Given the description of an element on the screen output the (x, y) to click on. 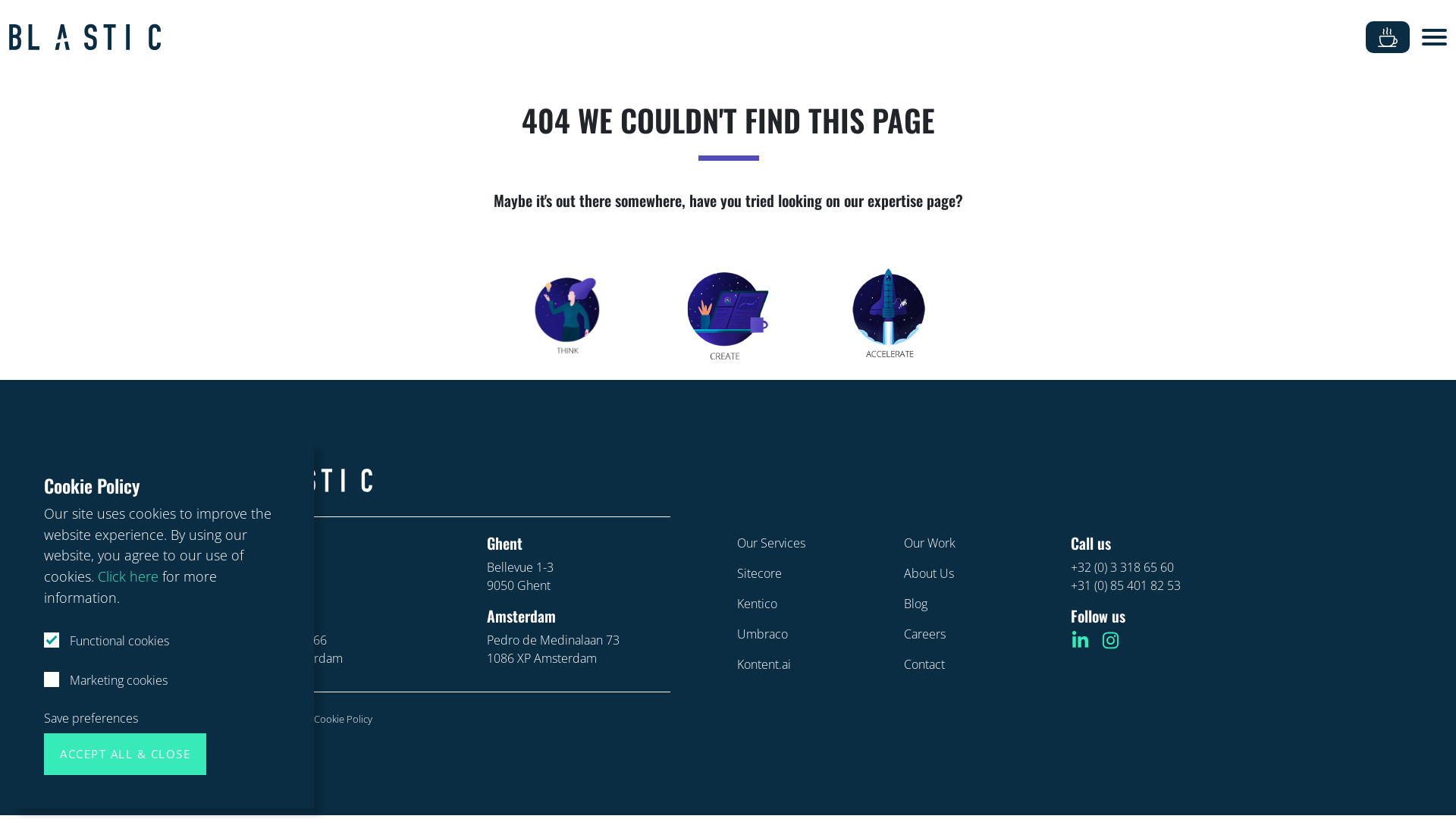
Our Work Element type: text (929, 542)
Cookie Policy Element type: text (342, 718)
Privacy Policy Element type: text (265, 718)
Contact Element type: text (923, 663)
Click here Element type: text (127, 575)
About Us Element type: text (928, 572)
ACCEPT ALL & CLOSE Element type: text (124, 754)
Kontent.ai Element type: text (763, 663)
Our Services Element type: text (771, 542)
Blog Element type: text (915, 603)
+31 (0) 85 401 82 53 Element type: text (1125, 585)
Umbraco Element type: text (762, 633)
+32 (0) 3 318 65 60 Element type: text (1121, 566)
Kentico Element type: text (757, 603)
Save preferences Element type: text (90, 717)
Careers Element type: text (924, 633)
Sitecore Element type: text (759, 572)
Coffee Element type: text (1387, 37)
